Given the description of an element on the screen output the (x, y) to click on. 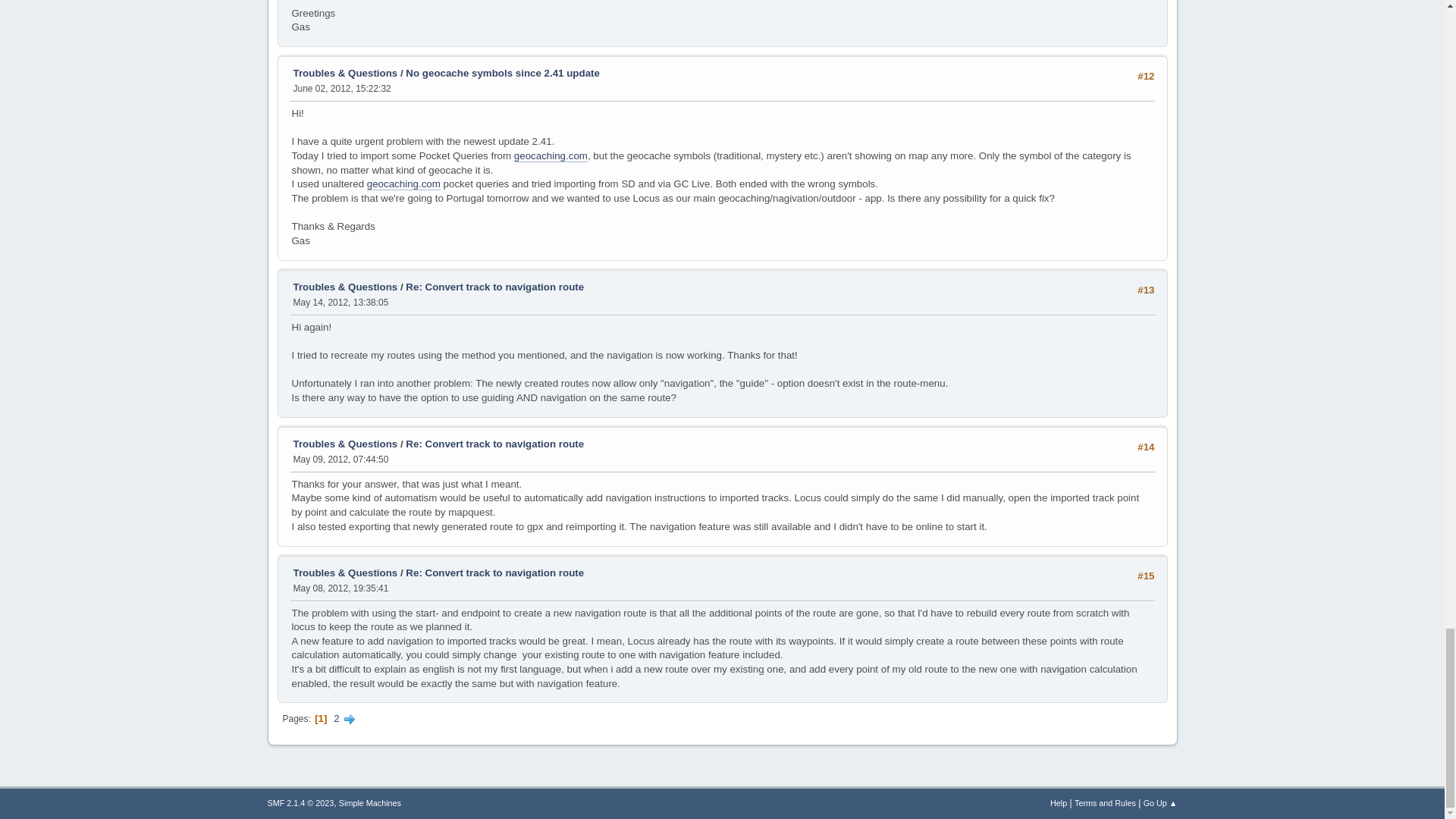
License (299, 802)
Simple Machines (370, 802)
